Given the description of an element on the screen output the (x, y) to click on. 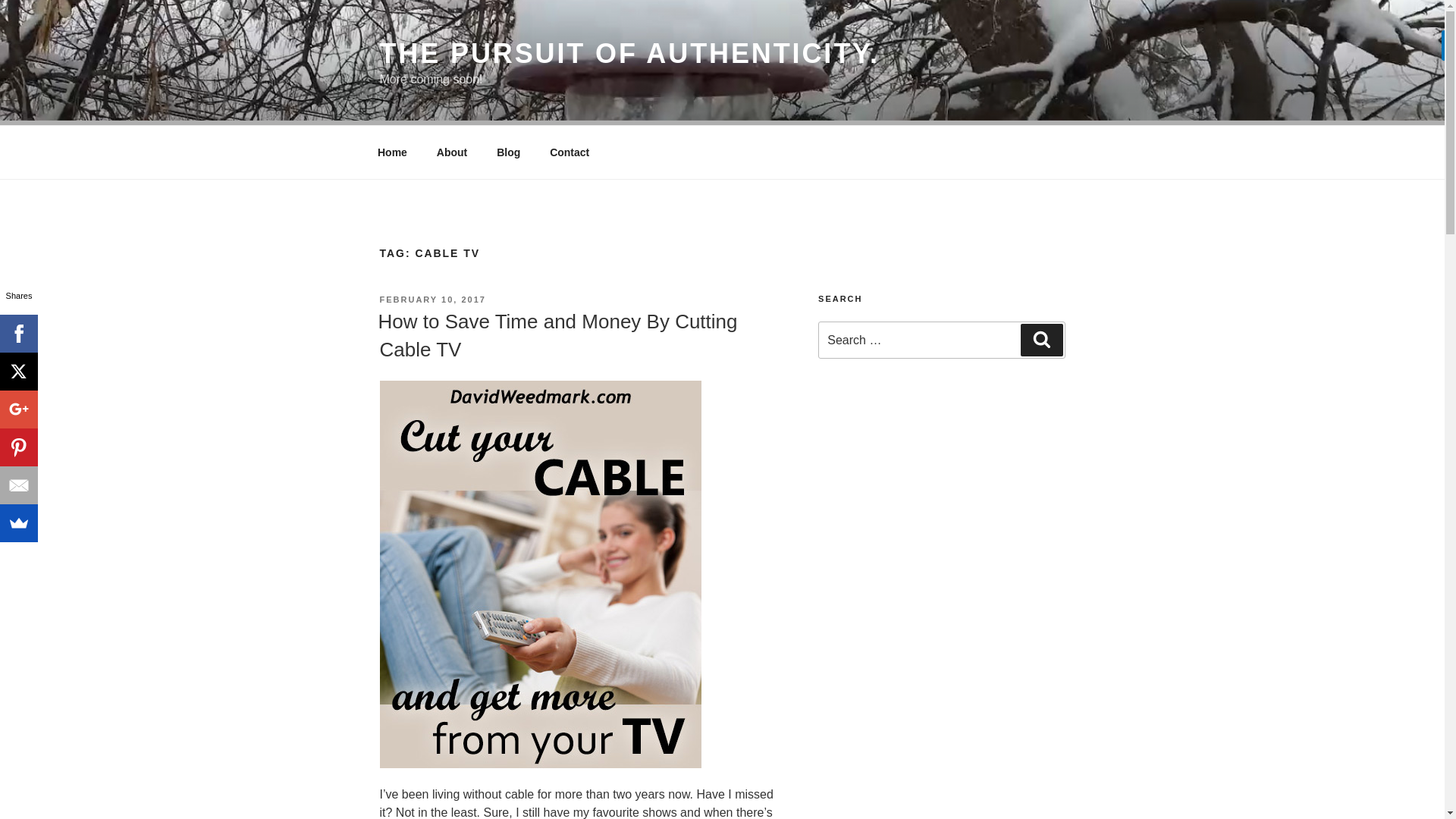
Pinterest (18, 447)
THE PURSUIT OF AUTHENTICITY. (628, 52)
Facebook (18, 333)
Blog (508, 151)
Email (18, 485)
About (451, 151)
FEBRUARY 10, 2017 (431, 298)
Contact (569, 151)
Home (392, 151)
X (18, 371)
